Given the description of an element on the screen output the (x, y) to click on. 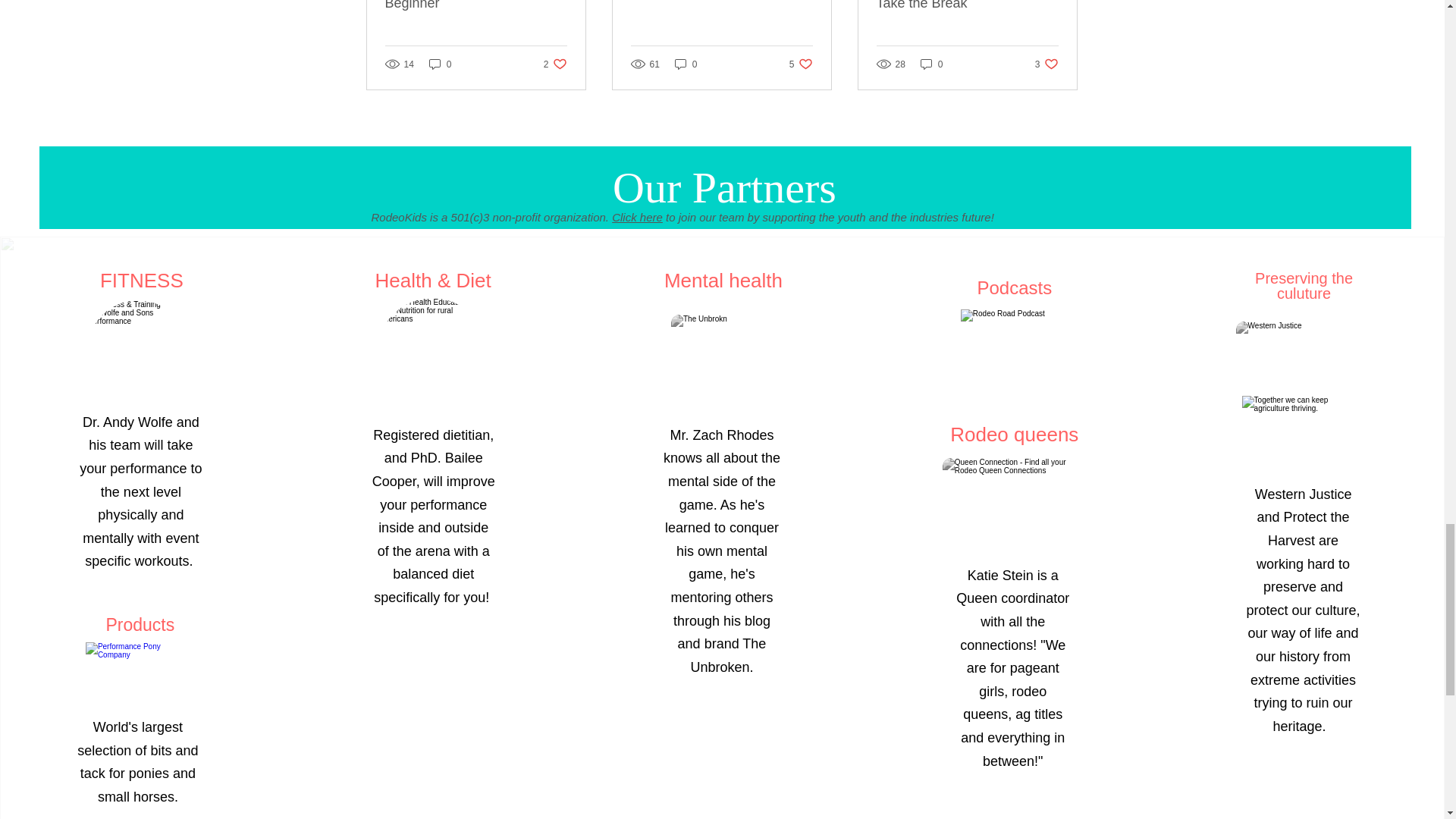
GettyImages-145680711.jpg (721, 353)
GettyImages-535587703.jpg (137, 348)
GettyImages-124893619.jpg (432, 353)
GettyImages-145680711.jpg (1300, 353)
GettyImages-145680711.jpg (1014, 506)
